Given the description of an element on the screen output the (x, y) to click on. 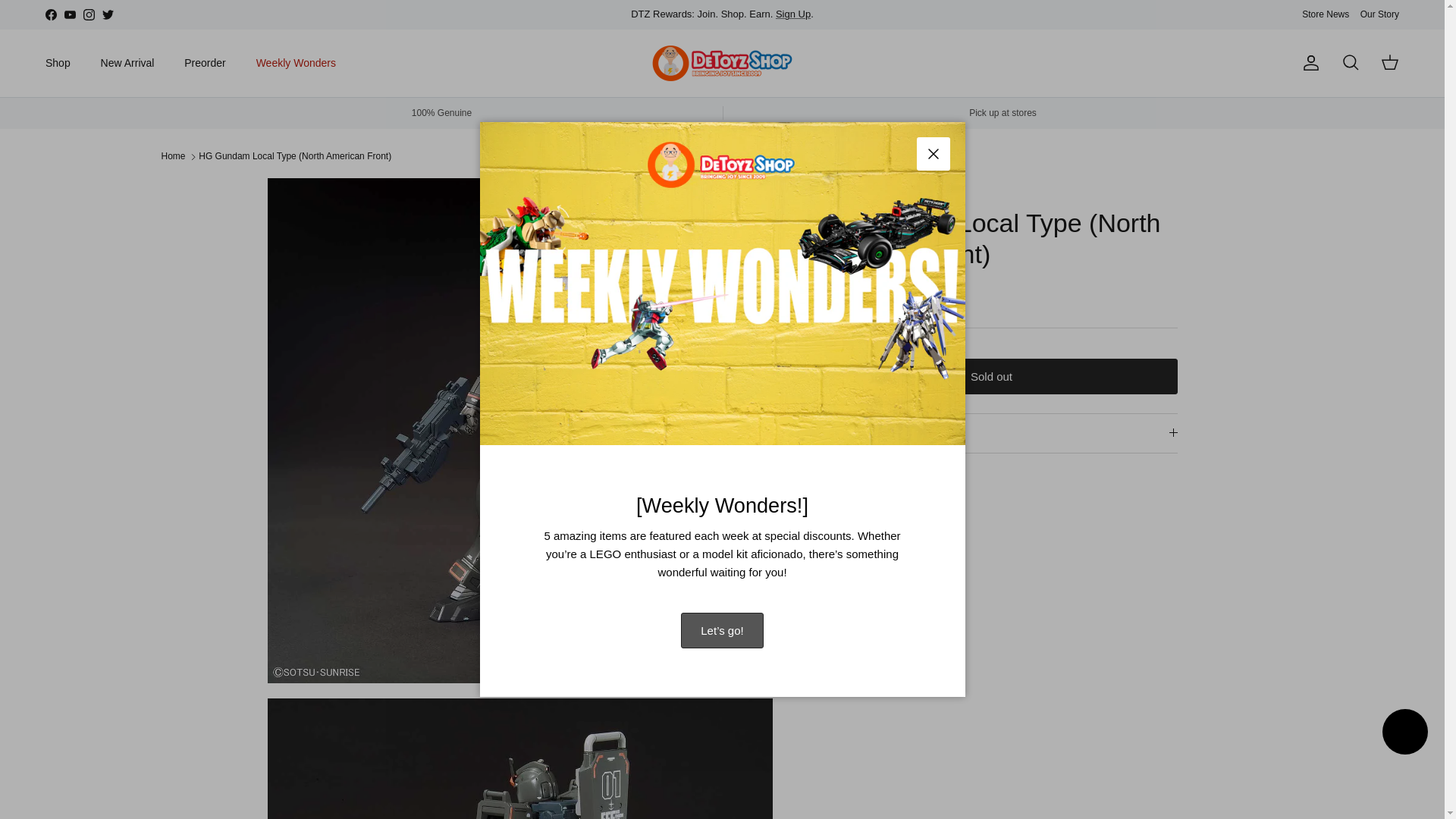
Shop (58, 62)
YouTube (69, 14)
Weekly Wonders (296, 62)
Tweet on X (843, 498)
De Toyz Shop on Twitter (107, 14)
De Toyz Shop on YouTube (69, 14)
Store News (1325, 13)
Share on Facebook (862, 498)
Facebook (50, 14)
De Toyz Shop (722, 63)
Account Sign in (793, 13)
Sign Up (793, 13)
Shopify online store chat (1404, 733)
Pin on Pinterest (881, 498)
Preorder (204, 62)
